Given the description of an element on the screen output the (x, y) to click on. 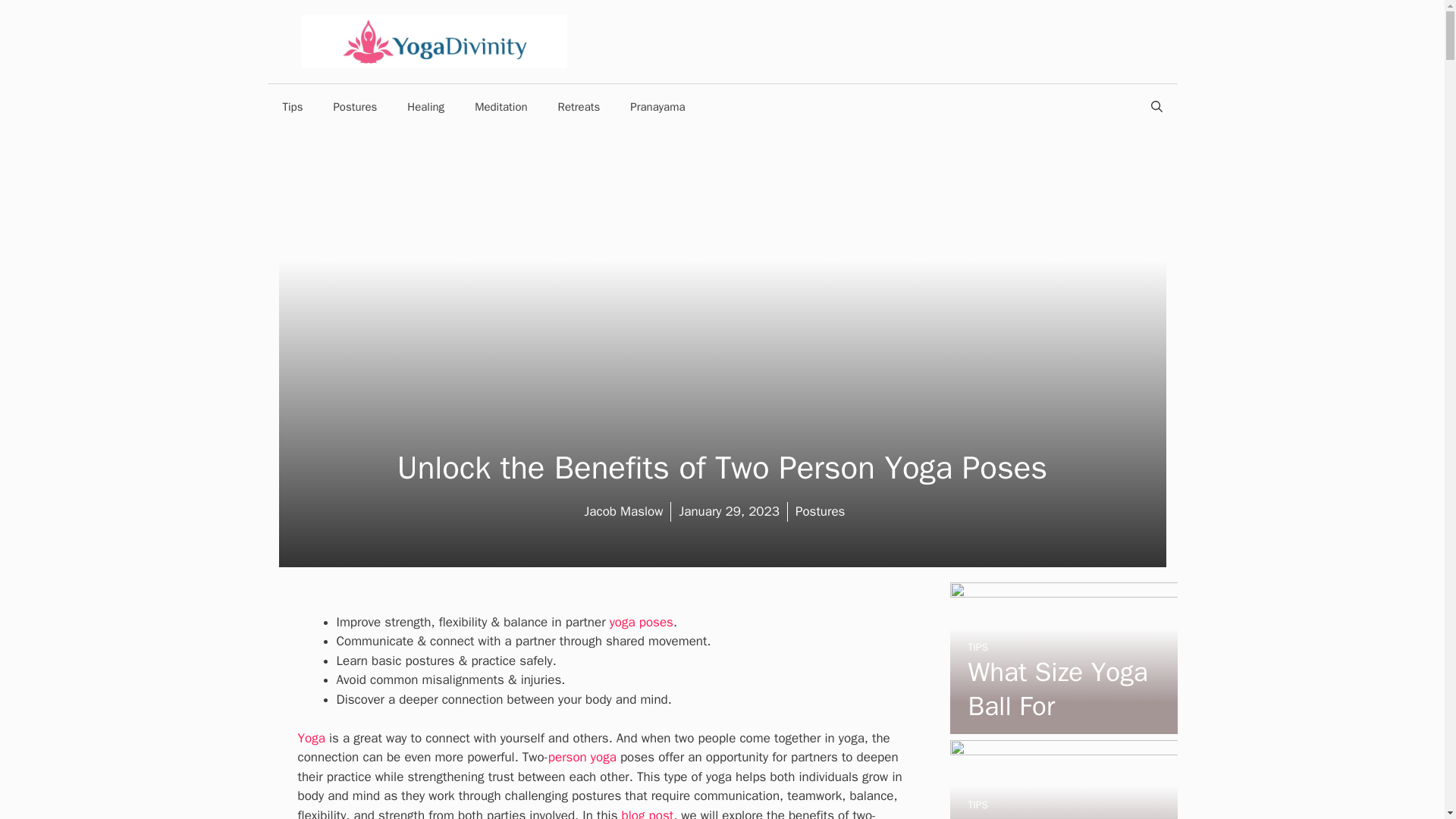
Meditation (500, 106)
Yoga (310, 738)
blog post (647, 813)
Tips (291, 106)
Yoga Poses (641, 621)
What Size Yoga Ball For Pregnancy? Choosing The Right Fit (1062, 723)
yoga poses (641, 621)
Yoga (310, 738)
Yoga Divinity (434, 40)
person yoga (581, 756)
Blog Post (647, 813)
Yoga Divinity (434, 41)
Healing (425, 106)
Postures (354, 106)
Person Yoga (581, 756)
